Given the description of an element on the screen output the (x, y) to click on. 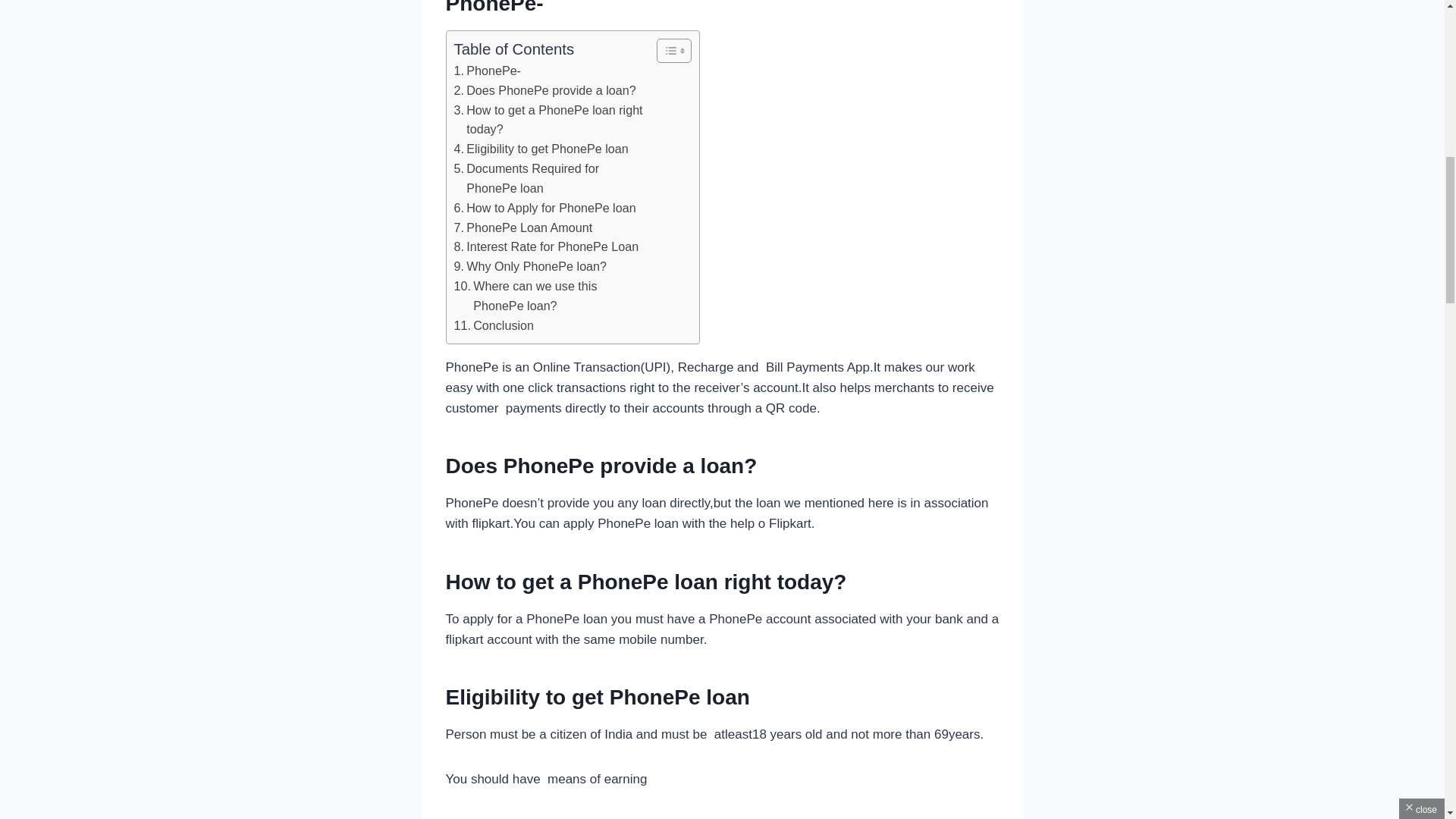
How to get a PhonePe loan right today? (550, 120)
PhonePe Loan Amount (522, 228)
Why Only PhonePe loan? (529, 266)
Eligibility to get PhonePe loan (539, 148)
Documents Required for PhonePe loan (550, 178)
Interest Rate for PhonePe Loan (545, 247)
Why Only PhonePe loan? (529, 266)
How to Apply for PhonePe loan (543, 208)
Interest Rate for PhonePe Loan (545, 247)
Conclusion (493, 325)
PhonePe- (486, 71)
Conclusion (493, 325)
Does PhonePe provide a loan? (543, 90)
Does PhonePe provide a loan? (543, 90)
How to Apply for PhonePe loan (543, 208)
